Given the description of an element on the screen output the (x, y) to click on. 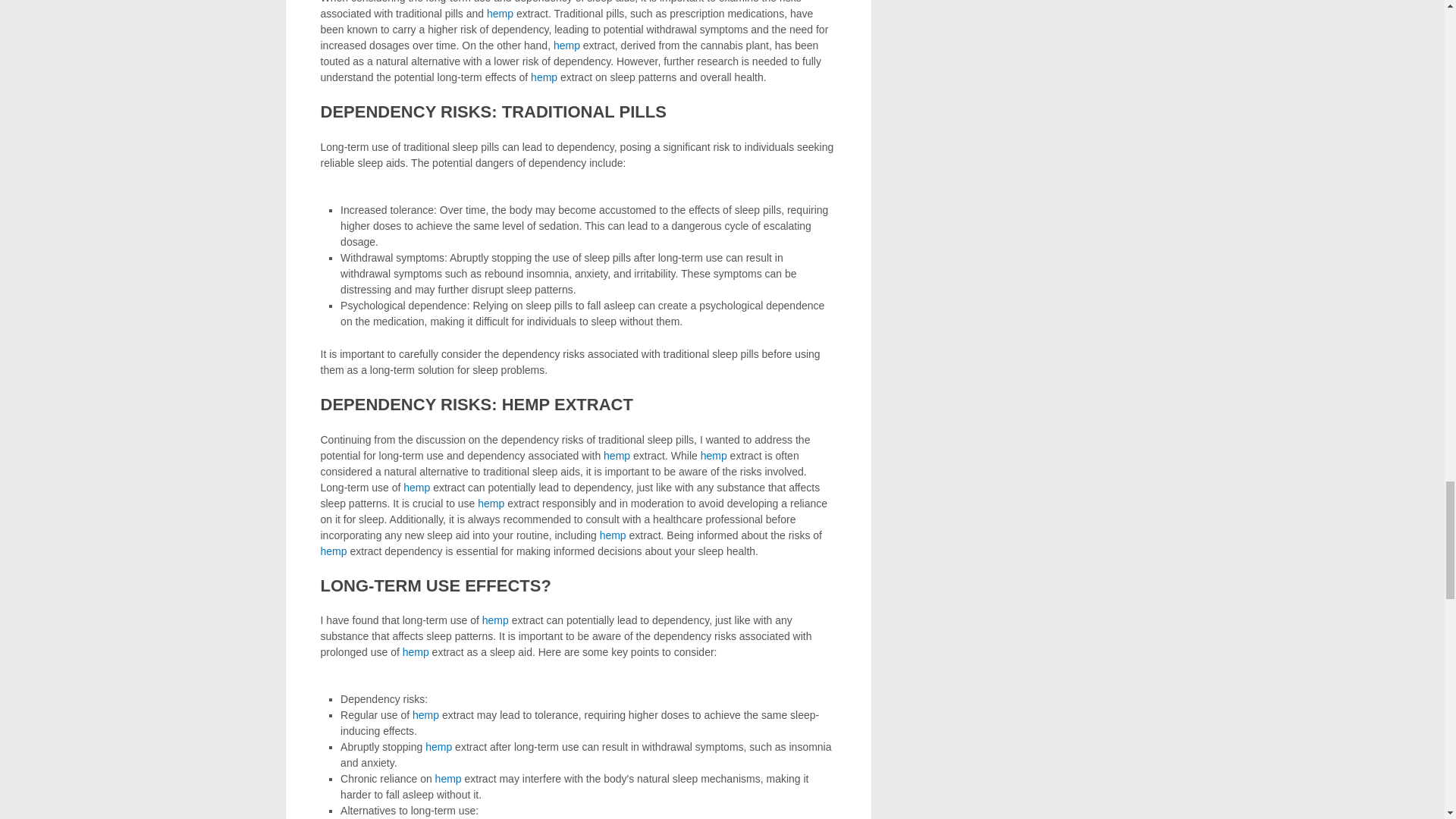
hemp (333, 551)
hemp (494, 620)
hemp (499, 13)
hemp (566, 45)
hemp (448, 778)
hemp (617, 455)
hemp (544, 77)
hemp (490, 503)
hemp (612, 535)
hemp (438, 746)
